Given the description of an element on the screen output the (x, y) to click on. 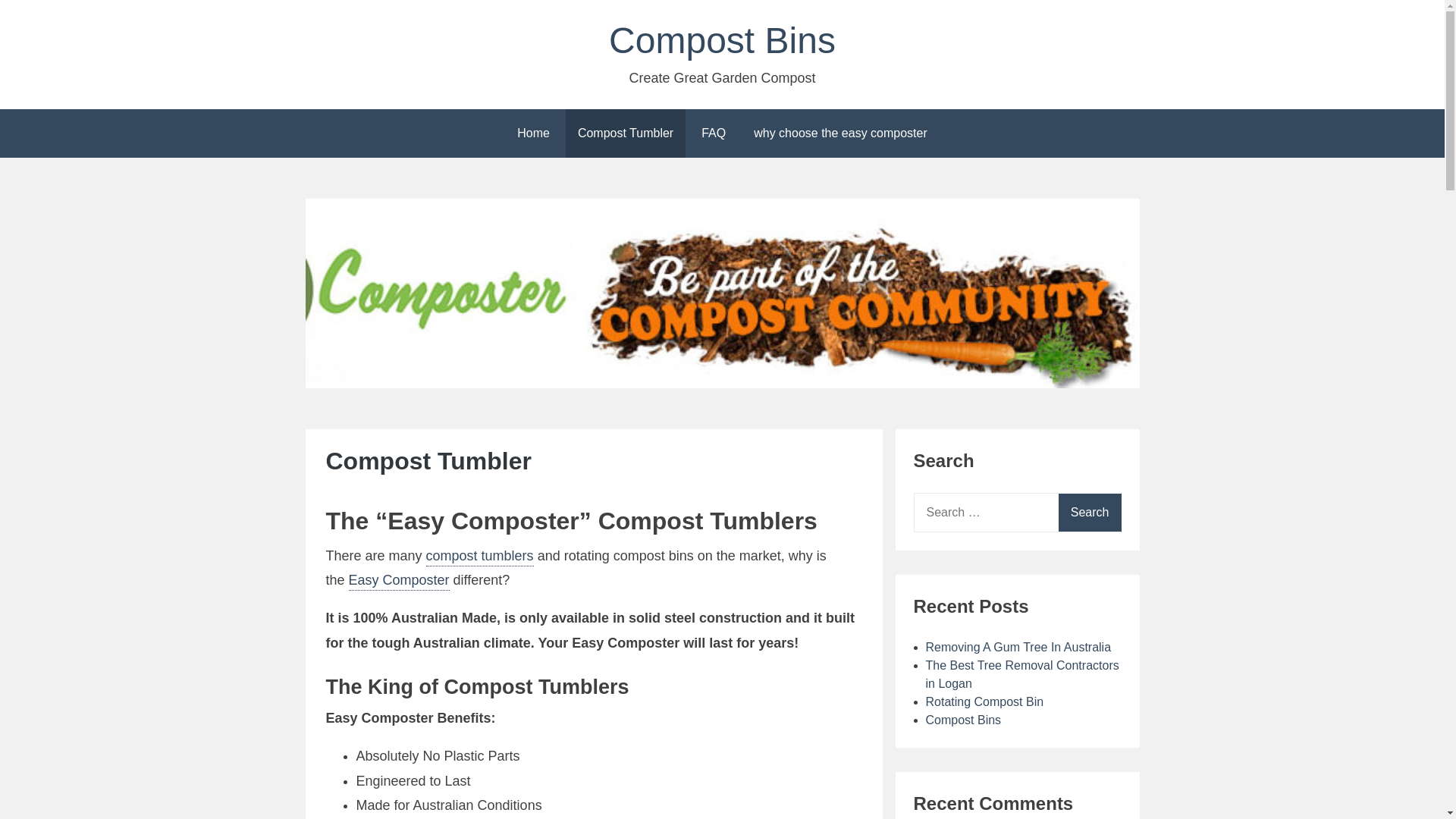
Compost Bins Element type: text (963, 719)
Compost Bins Element type: text (721, 40)
The Best Tree Removal Contractors in Logan Element type: text (1021, 674)
compost tumblers Element type: text (479, 557)
Easy Composter Element type: text (398, 581)
FAQ Element type: text (713, 133)
Compost Tumbler Element type: text (625, 133)
Rotating Compost Bin Element type: text (984, 701)
Search Element type: text (1089, 512)
Removing A Gum Tree In Australia Element type: text (1017, 646)
why choose the easy composter Element type: text (840, 133)
Home Element type: text (533, 133)
